Given the description of an element on the screen output the (x, y) to click on. 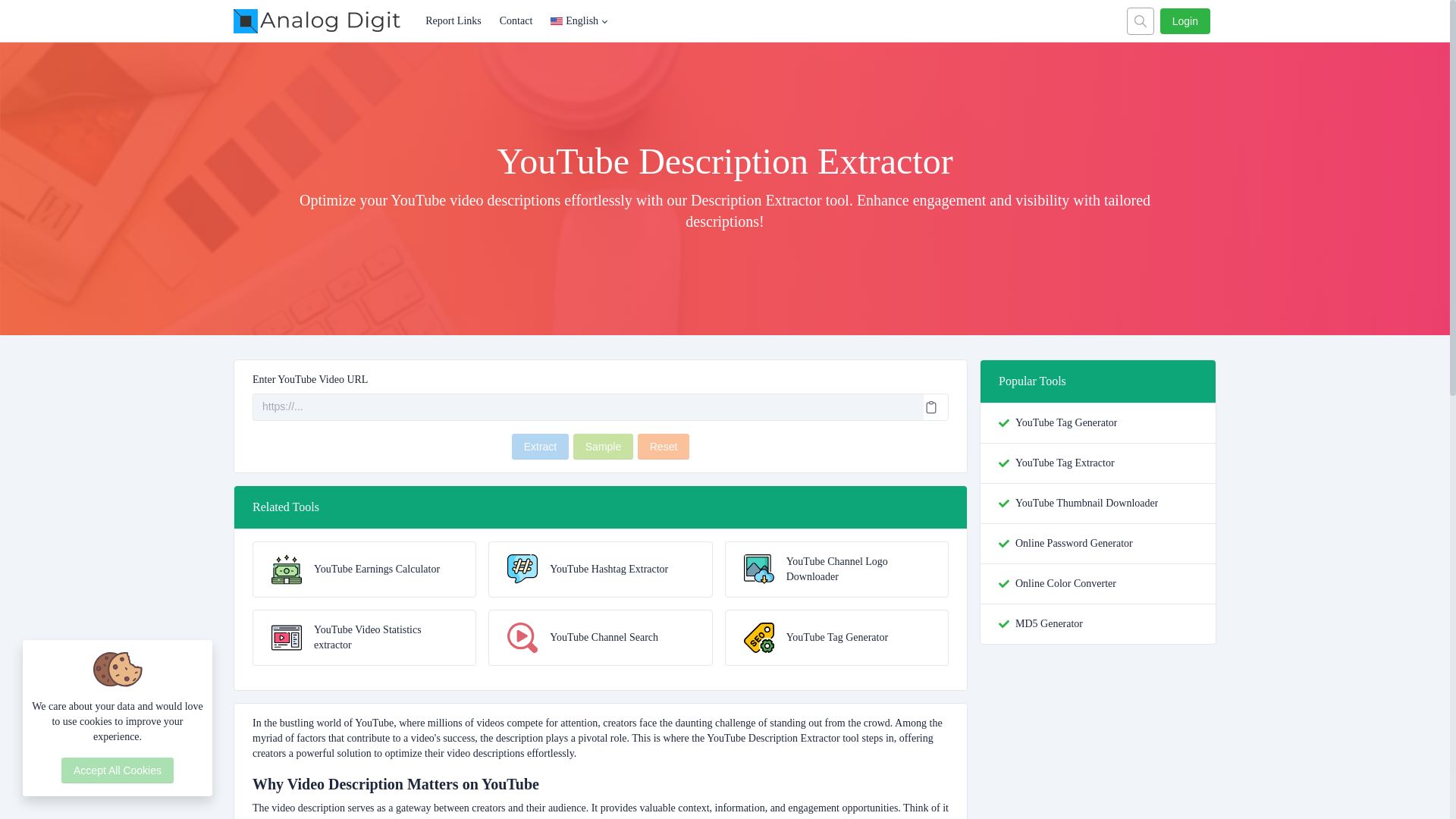
Report Links (453, 21)
YouTube Earnings Calculator (363, 569)
YouTube Thumbnail Downloader (1085, 503)
Contact (515, 21)
Reset (663, 446)
MD5 Generator (1048, 623)
MD5 Generator (1048, 623)
AnalogDigit Web Tools (324, 21)
YouTube Hashtag Extractor (599, 569)
YouTube Tag Generator (1065, 422)
Online Color Converter (1065, 583)
YouTube Video Statistics extractor (363, 637)
Extract (540, 446)
English (578, 21)
YouTube Tag Extractor (1064, 462)
